Given the description of an element on the screen output the (x, y) to click on. 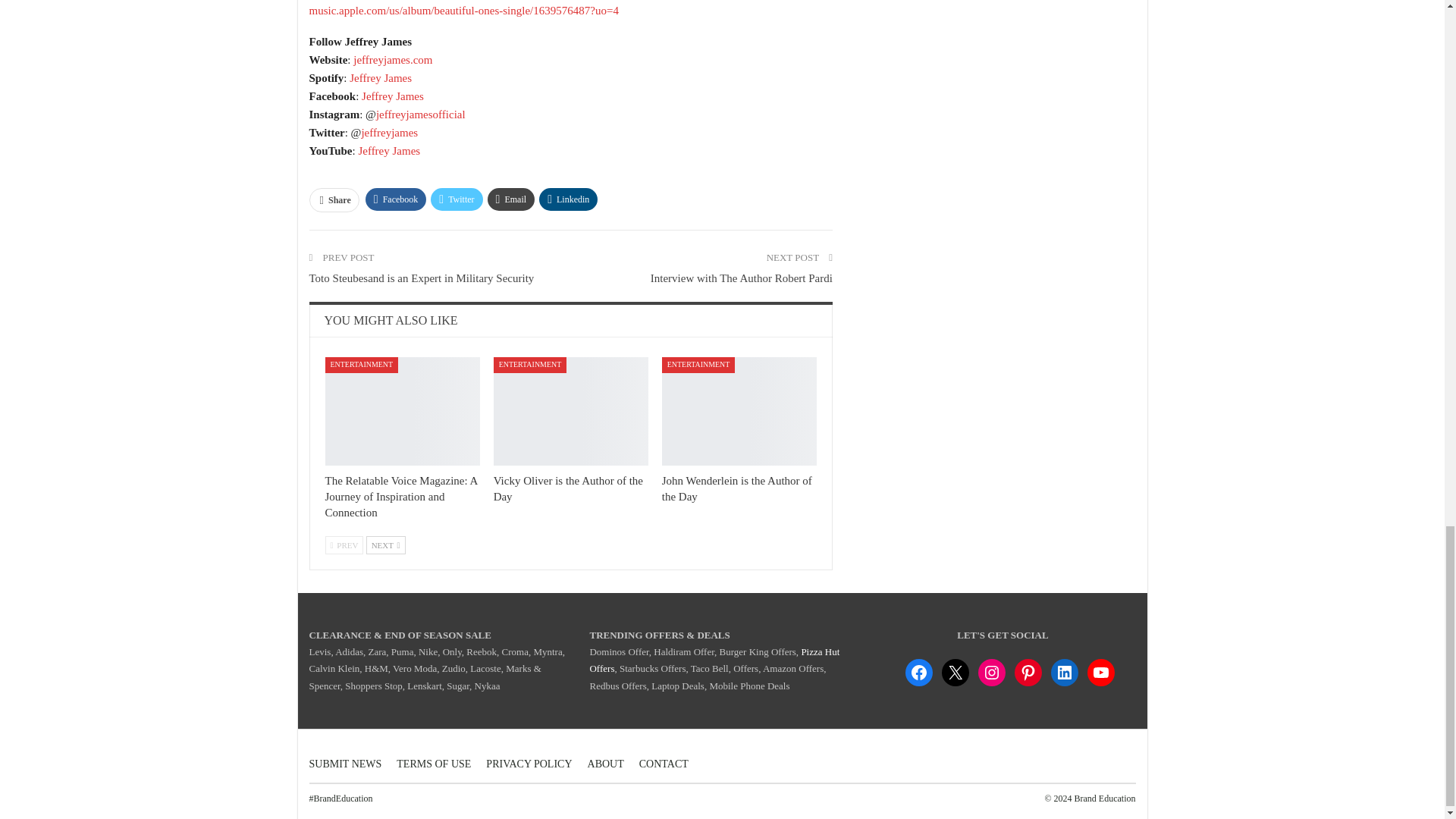
Linkedin (567, 199)
Jeffrey James (392, 96)
Jeffrey James (380, 78)
ENTERTAINMENT (698, 365)
Vicky Oliver is the Author of the Day (568, 488)
Email (511, 199)
Vicky Oliver is the Author of the Day (570, 411)
ENTERTAINMENT (530, 365)
